Given the description of an element on the screen output the (x, y) to click on. 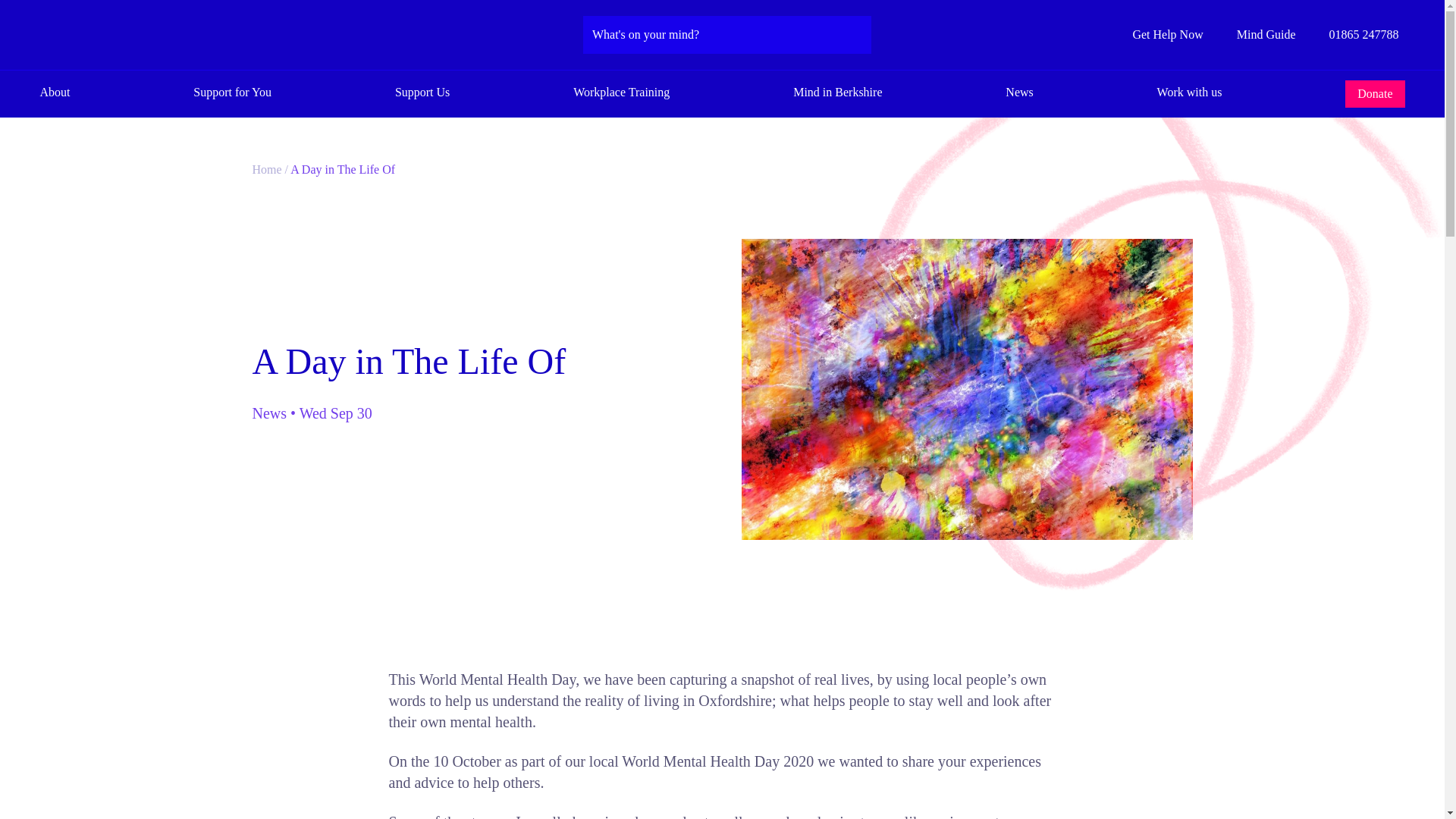
Get Help Now (1166, 34)
Mind Guide (1256, 34)
Support for You (231, 93)
01865 247788 (1354, 34)
